Given the description of an element on the screen output the (x, y) to click on. 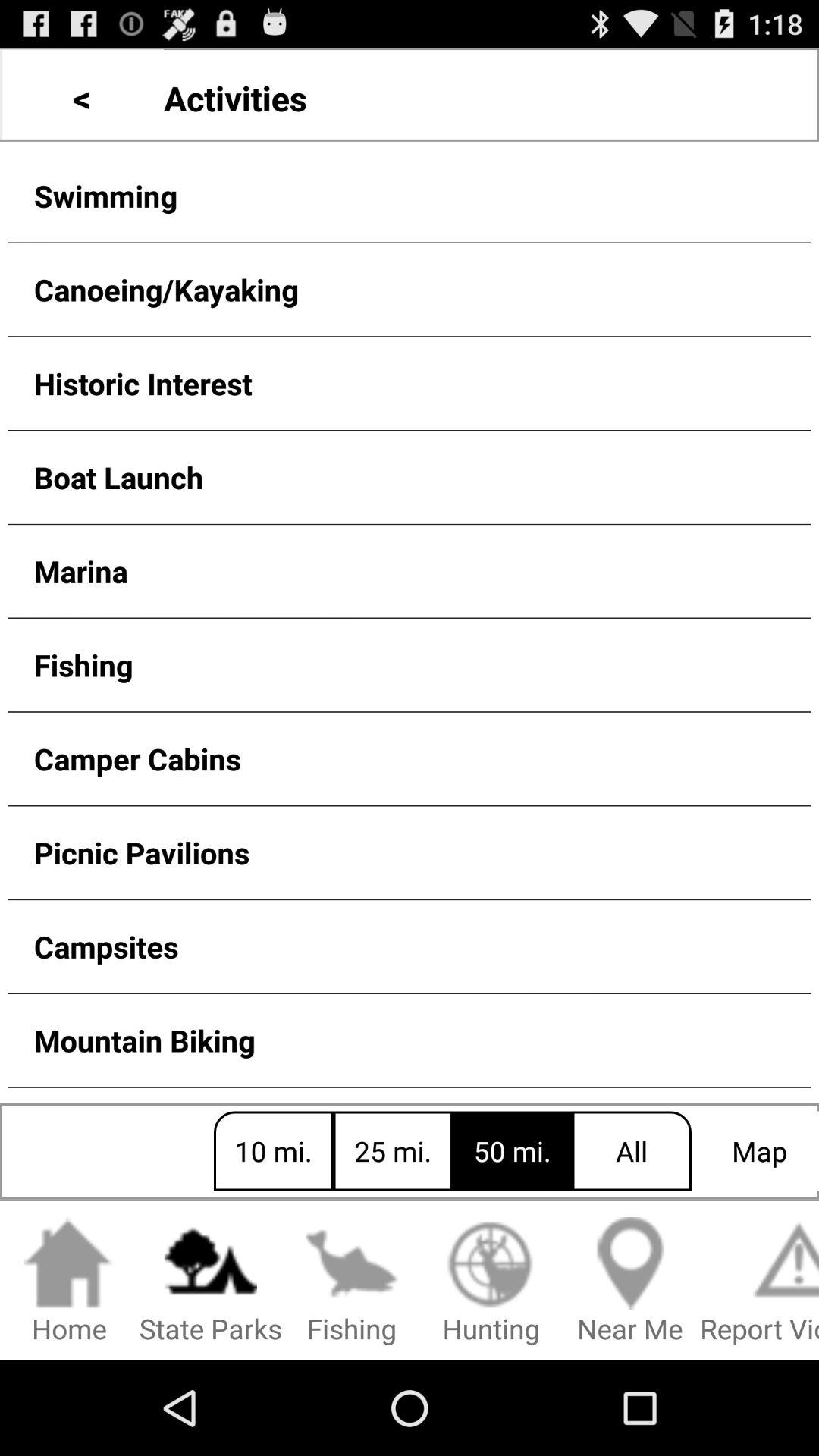
flip until the state parks item (210, 1282)
